Given the description of an element on the screen output the (x, y) to click on. 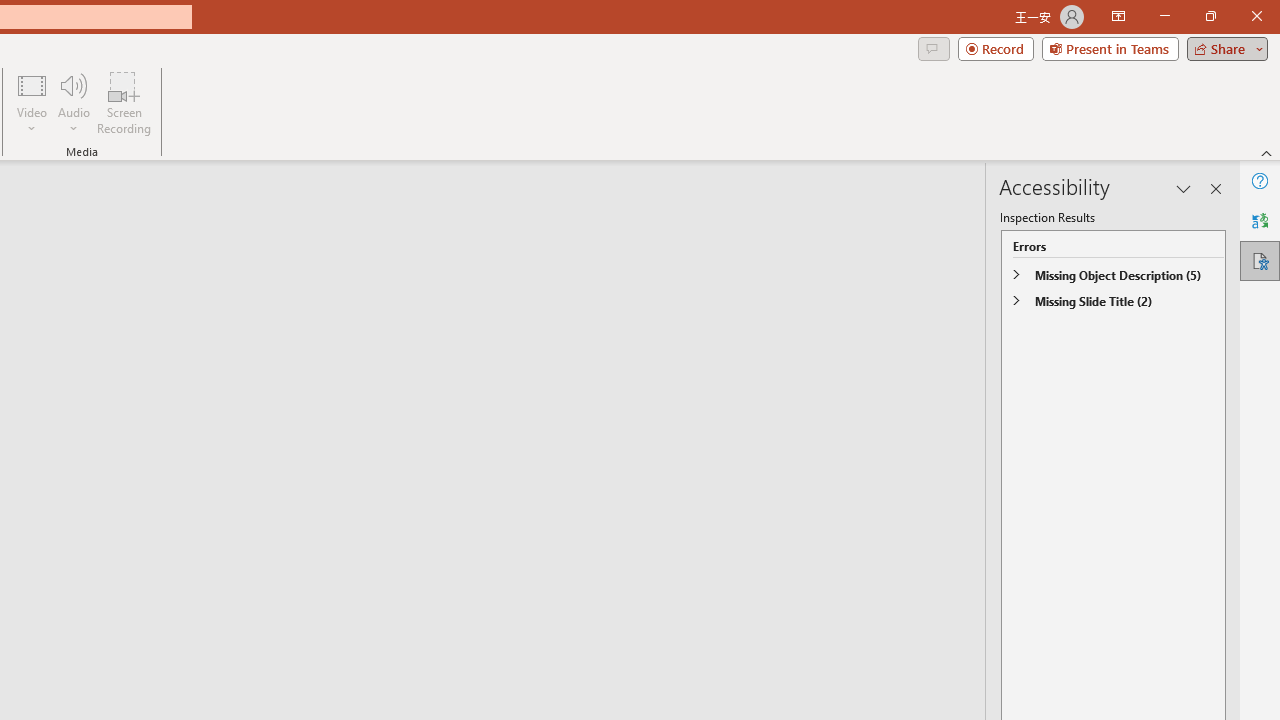
Video (31, 102)
Audio (73, 102)
Screen Recording... (123, 102)
